Given the description of an element on the screen output the (x, y) to click on. 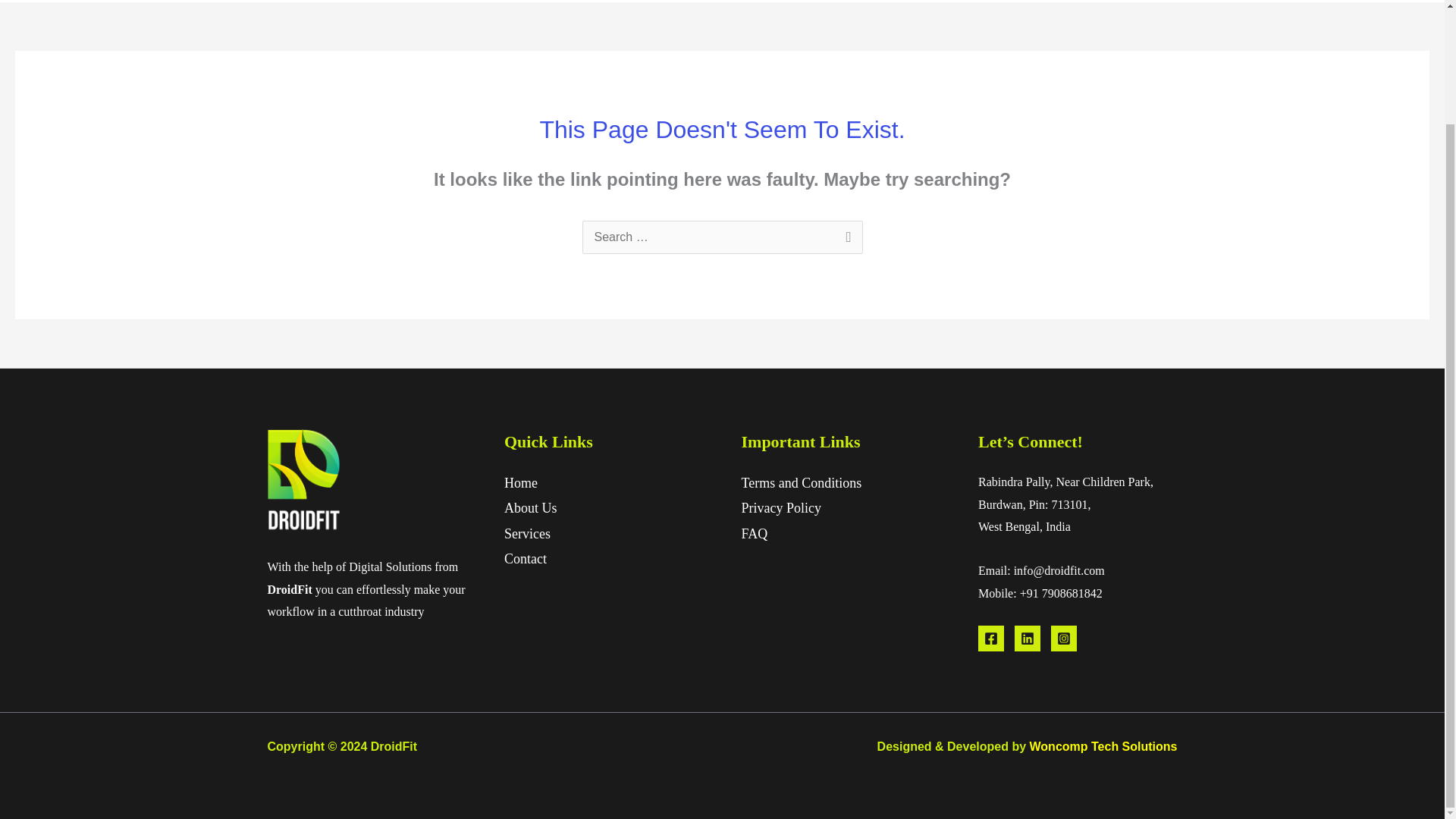
Privacy Policy (781, 507)
Woncomp Tech Solutions (1103, 746)
Terms and Conditions (801, 482)
FAQ (754, 533)
Services (526, 533)
Home (520, 482)
About Us (530, 507)
Contact (525, 558)
